Given the description of an element on the screen output the (x, y) to click on. 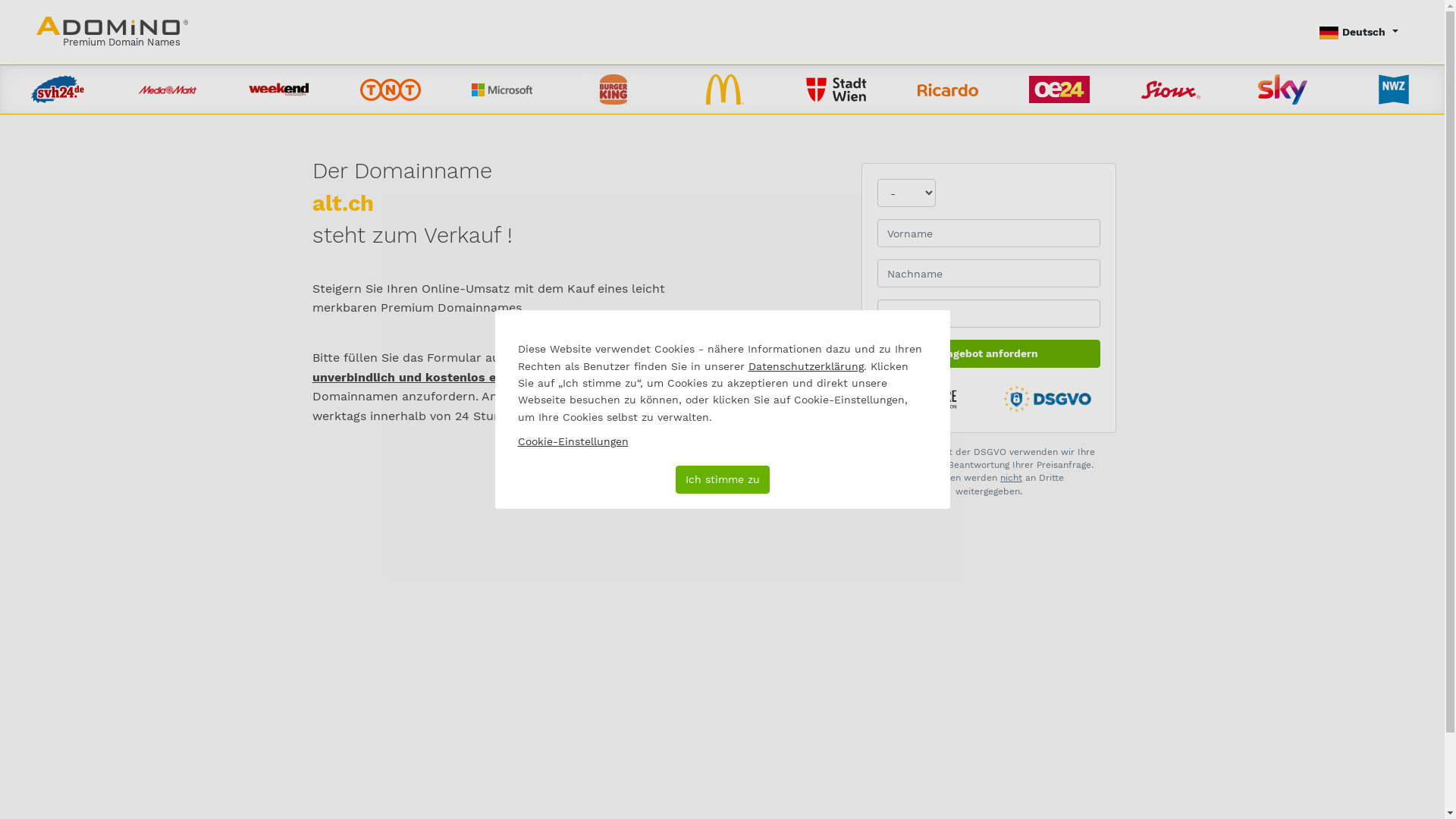
Ich stimme zu Element type: text (721, 479)
Cookie-Einstellungen Element type: text (572, 441)
Angebot anfordern Element type: text (989, 353)
Deutsch Element type: text (1358, 32)
Premium Domain Names Element type: text (112, 31)
